Given the description of an element on the screen output the (x, y) to click on. 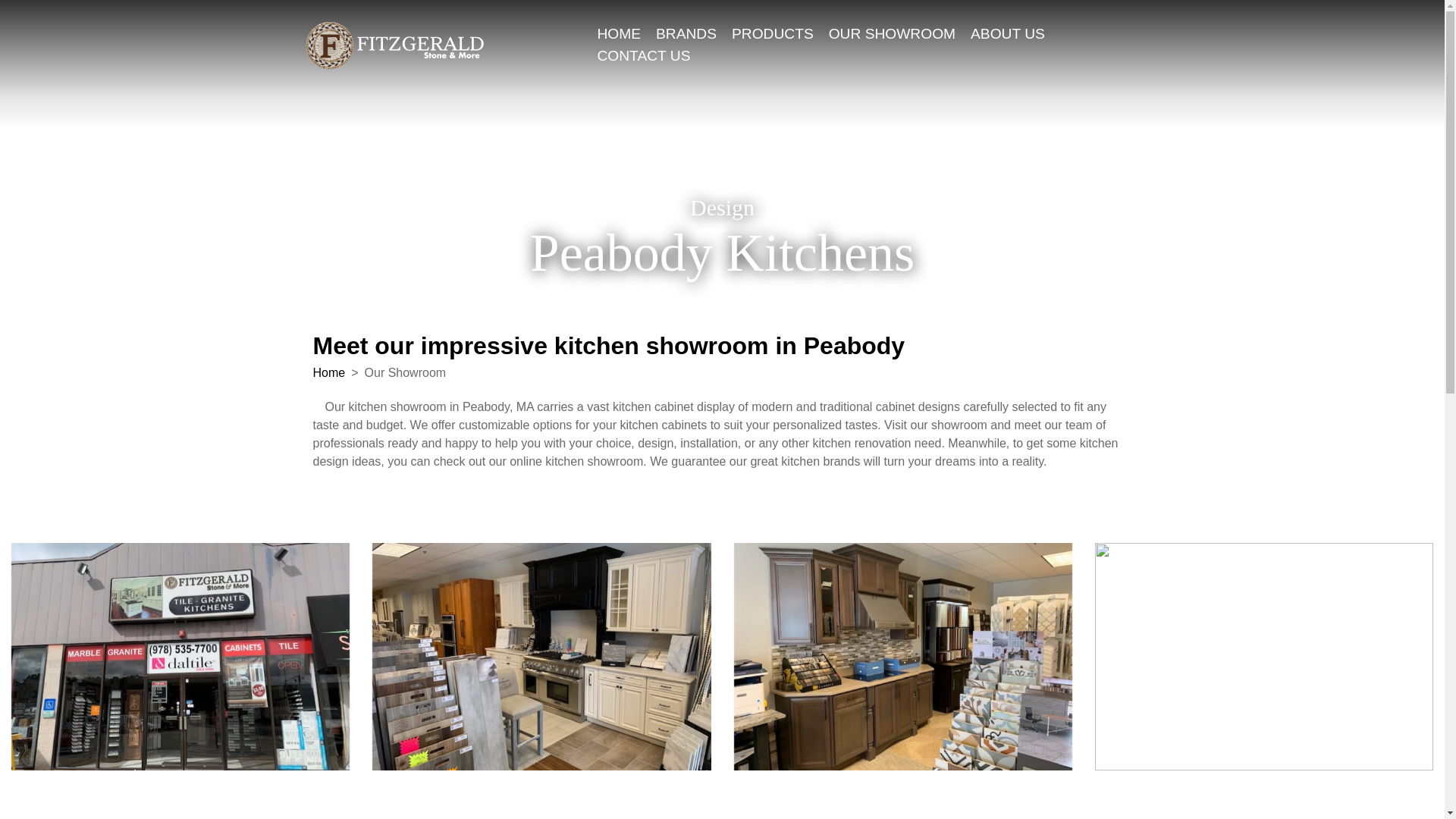
OUR SHOWROOM (891, 34)
Home (346, 372)
HOME (618, 34)
ABOUT US (1008, 34)
BRANDS (686, 34)
PRODUCTS (772, 34)
CONTACT US (643, 56)
